Given the description of an element on the screen output the (x, y) to click on. 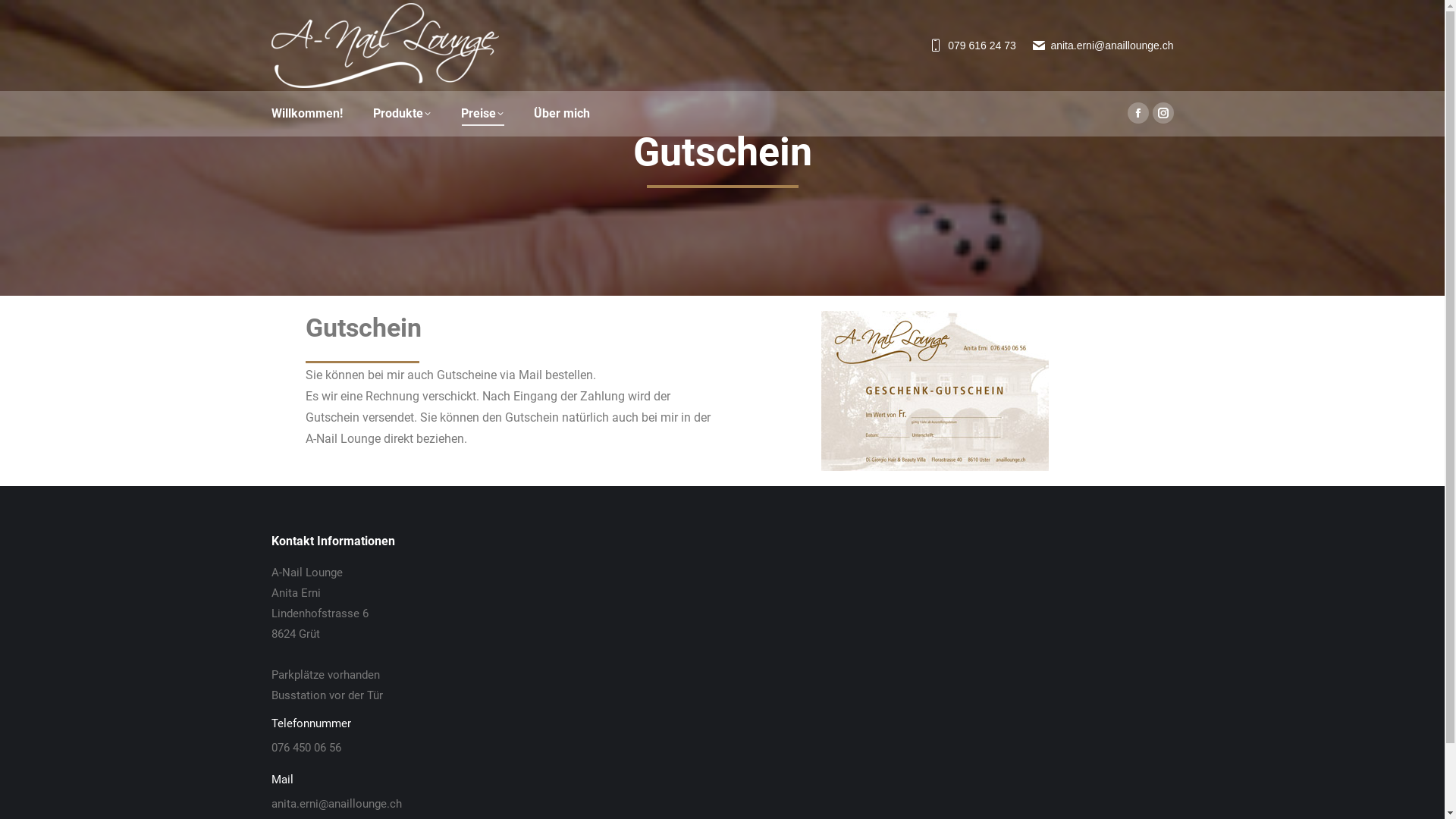
Produkte Element type: text (401, 113)
Willkommen! Element type: text (306, 113)
Instagram page opens in new window Element type: hover (1162, 112)
Facebook page opens in new window Element type: hover (1137, 112)
Preise Element type: text (482, 113)
